Given the description of an element on the screen output the (x, y) to click on. 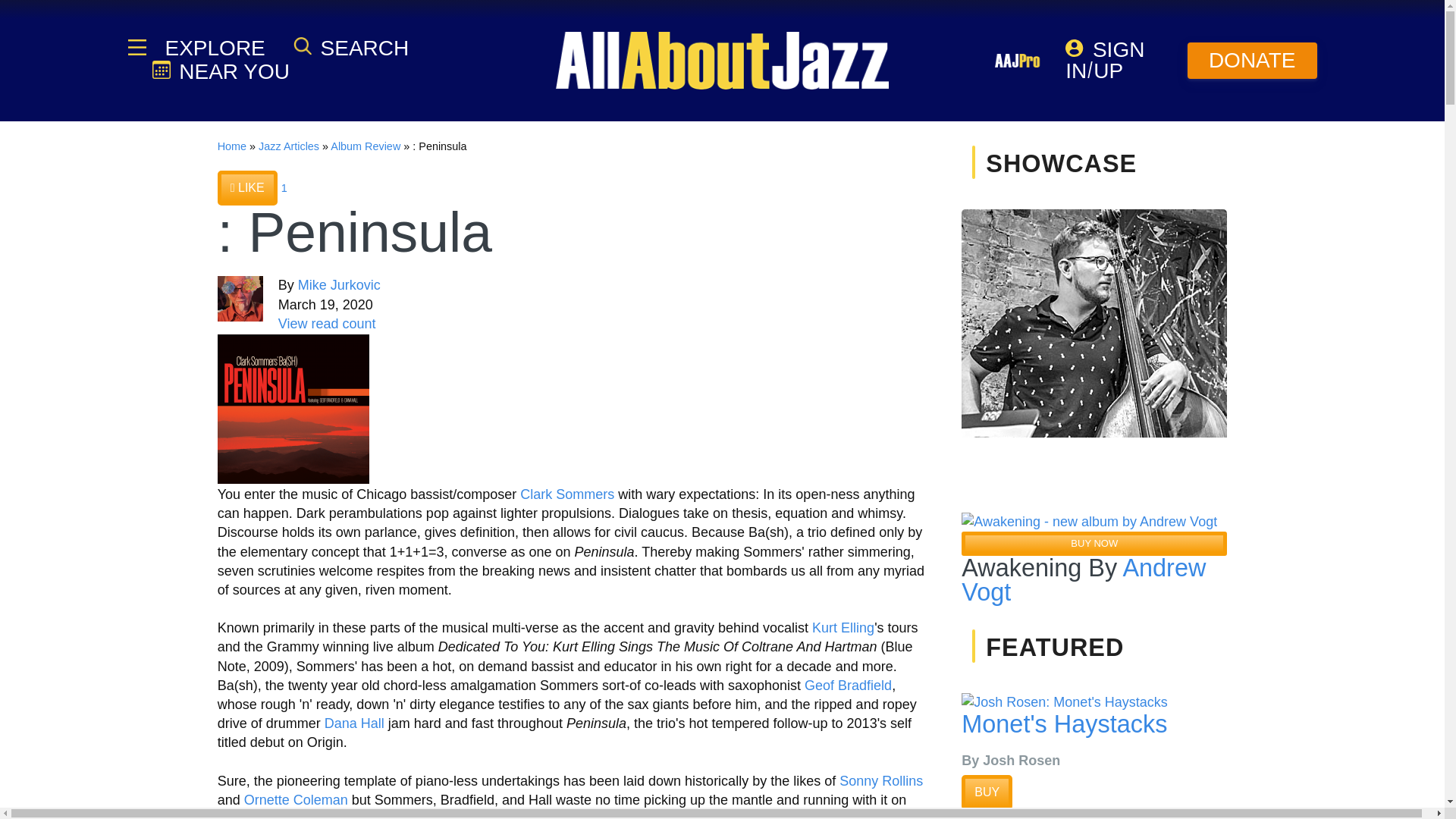
Click Here to Return to the All About Jazz Home Page (231, 146)
AAJ Essentials (136, 47)
LIKE (247, 187)
Jazz Articles (288, 146)
Dana Hall (354, 723)
Home (231, 146)
Welcome to All About Jazz! (722, 60)
: Peninsula (292, 409)
Mike Jurkovic (339, 284)
View jazz concerts near you (220, 71)
